Given the description of an element on the screen output the (x, y) to click on. 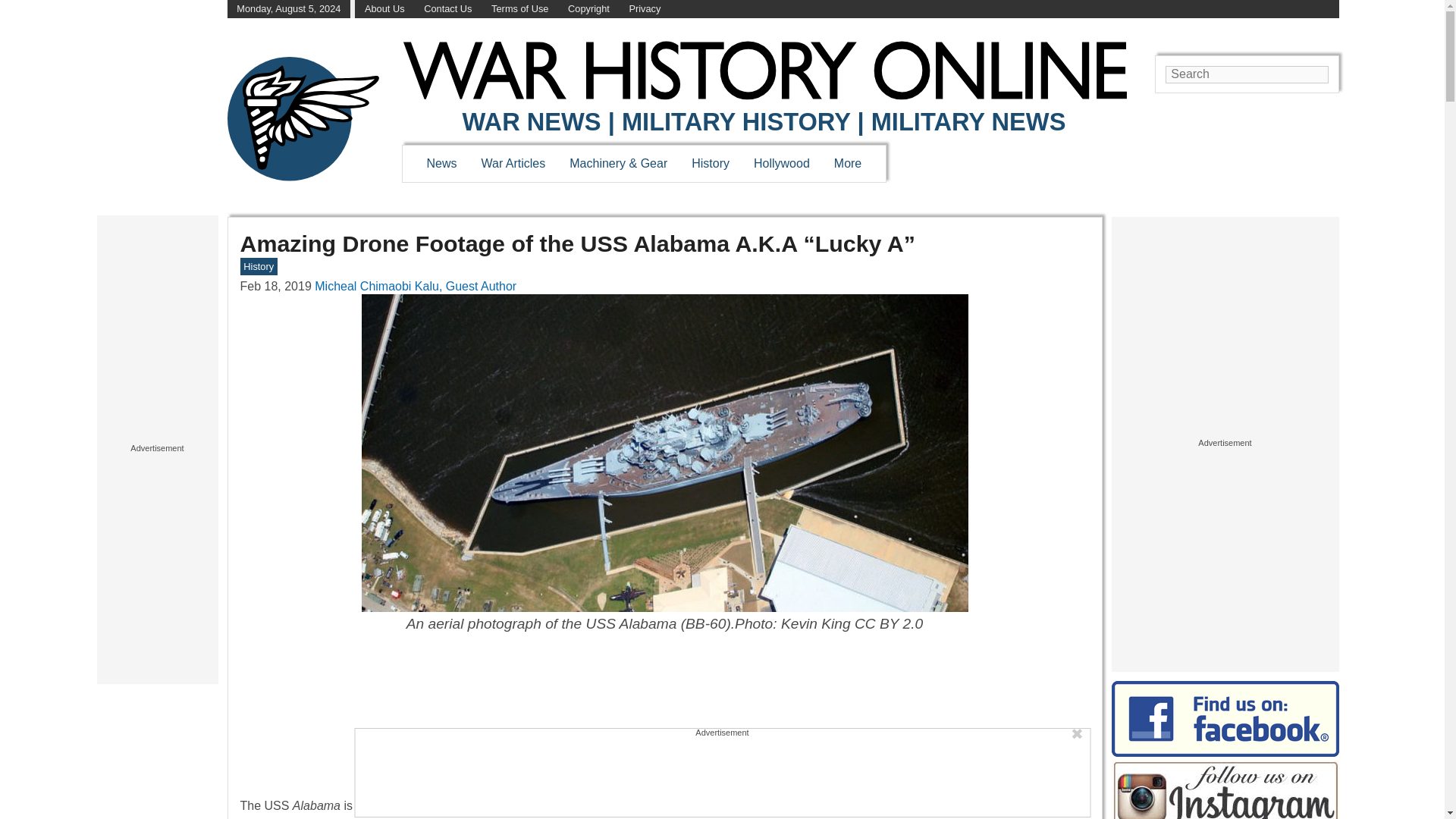
Hollywood (781, 163)
Contact Us (447, 8)
Terms of Use (520, 8)
More (847, 163)
About Us (384, 8)
History (710, 163)
News (441, 163)
Copyright (588, 8)
Privacy (644, 8)
War Articles (513, 163)
